Given the description of an element on the screen output the (x, y) to click on. 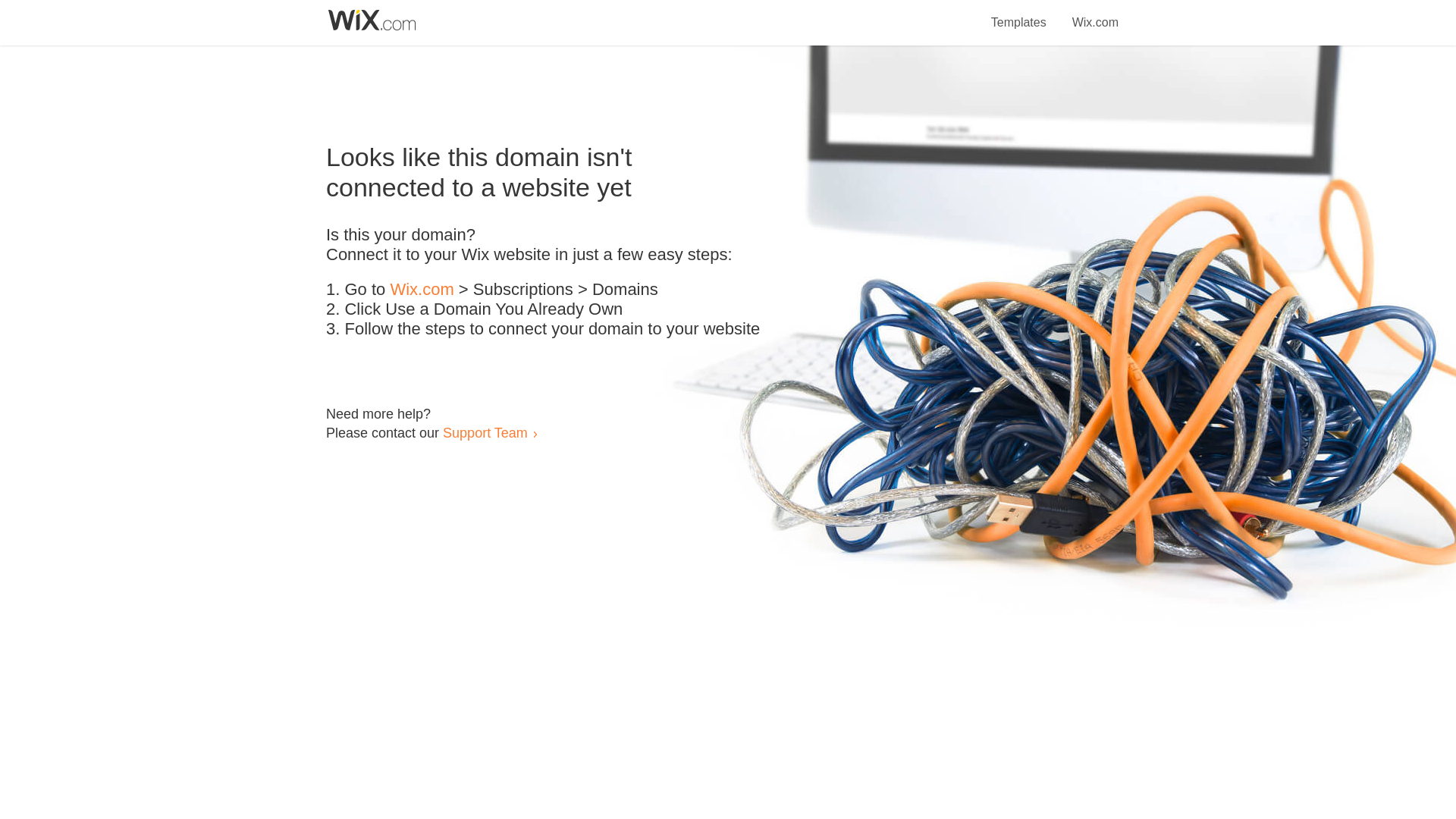
Templates (1018, 14)
Wix.com (1095, 14)
Wix.com (421, 289)
Support Team (484, 432)
